Given the description of an element on the screen output the (x, y) to click on. 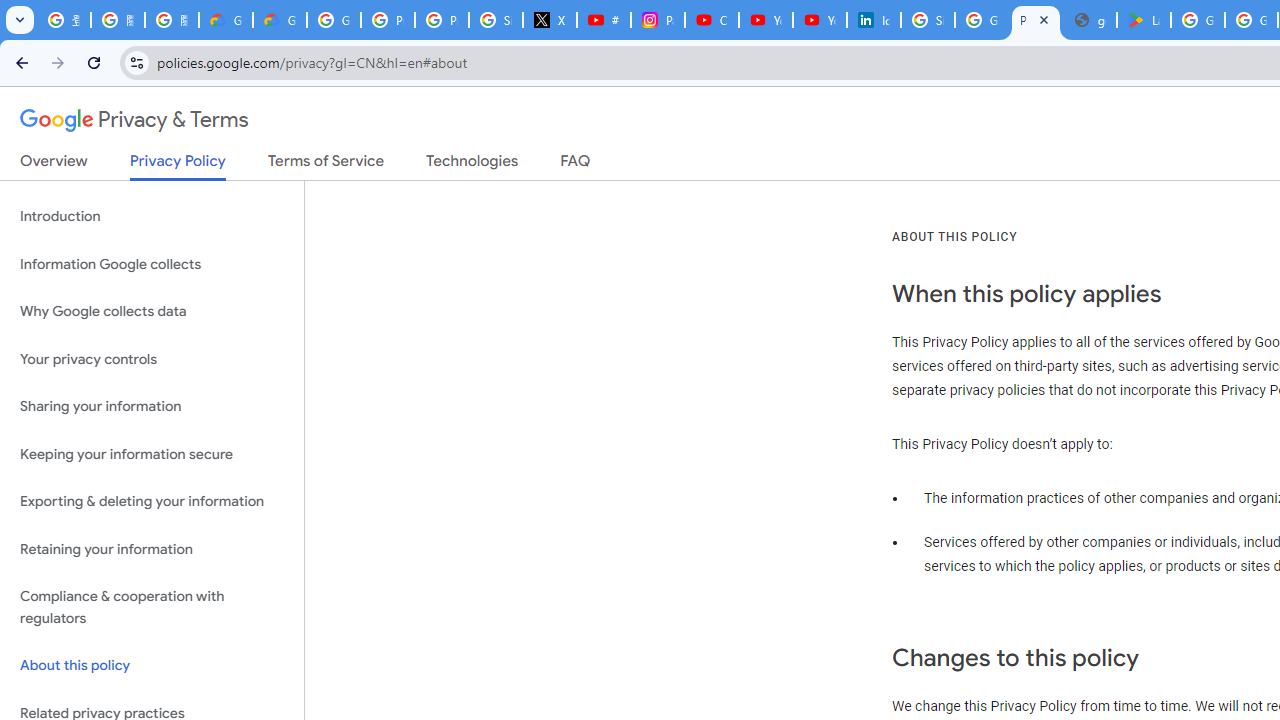
Keeping your information secure (152, 453)
Privacy Help Center - Policies Help (441, 20)
Sharing your information (152, 407)
Last Shelter: Survival - Apps on Google Play (1144, 20)
#nbabasketballhighlights - YouTube (604, 20)
Introduction (152, 216)
